Given the description of an element on the screen output the (x, y) to click on. 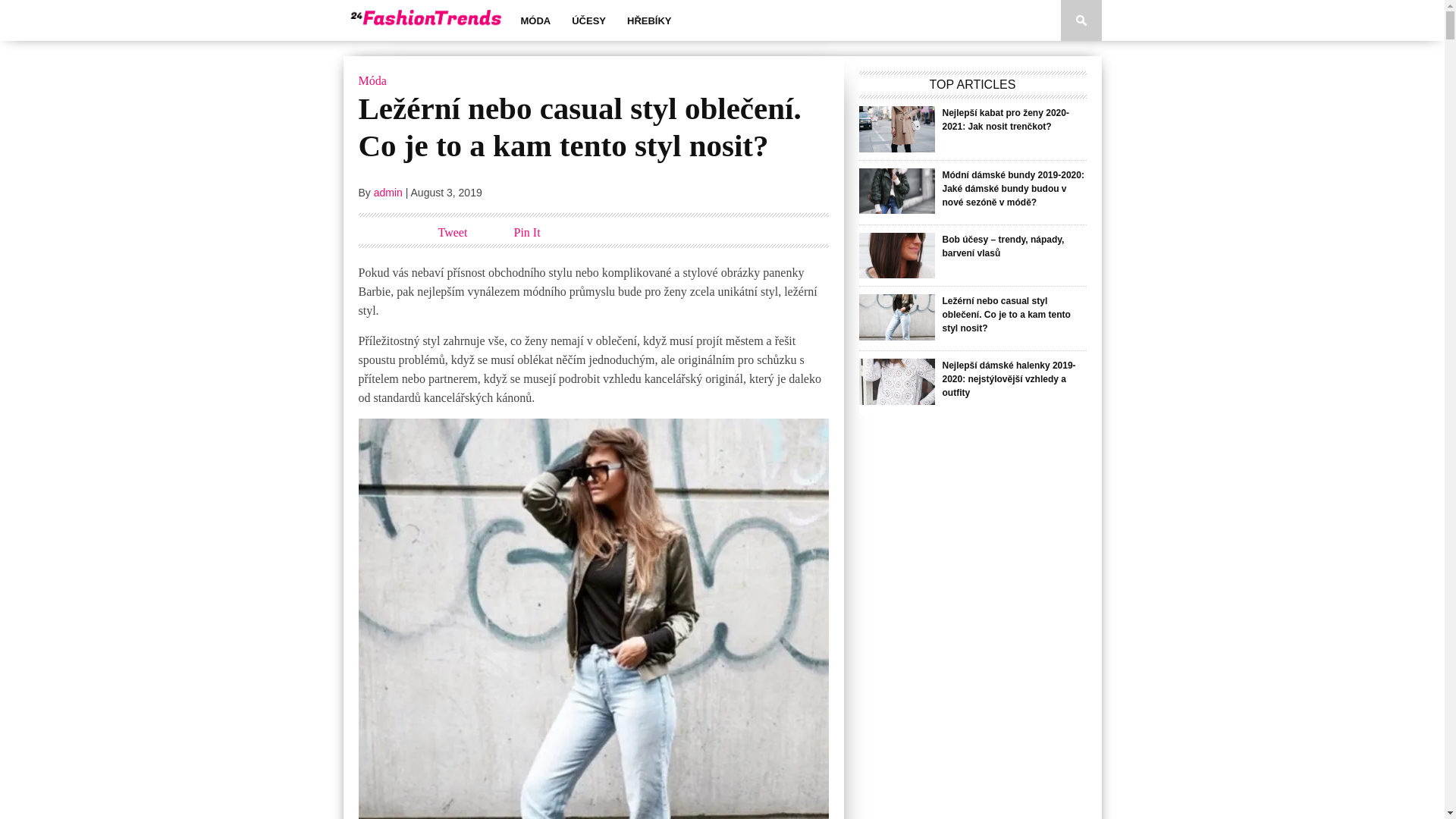
admin Element type: text (387, 192)
Tweet Element type: text (452, 231)
Pin It Element type: text (527, 231)
